Given the description of an element on the screen output the (x, y) to click on. 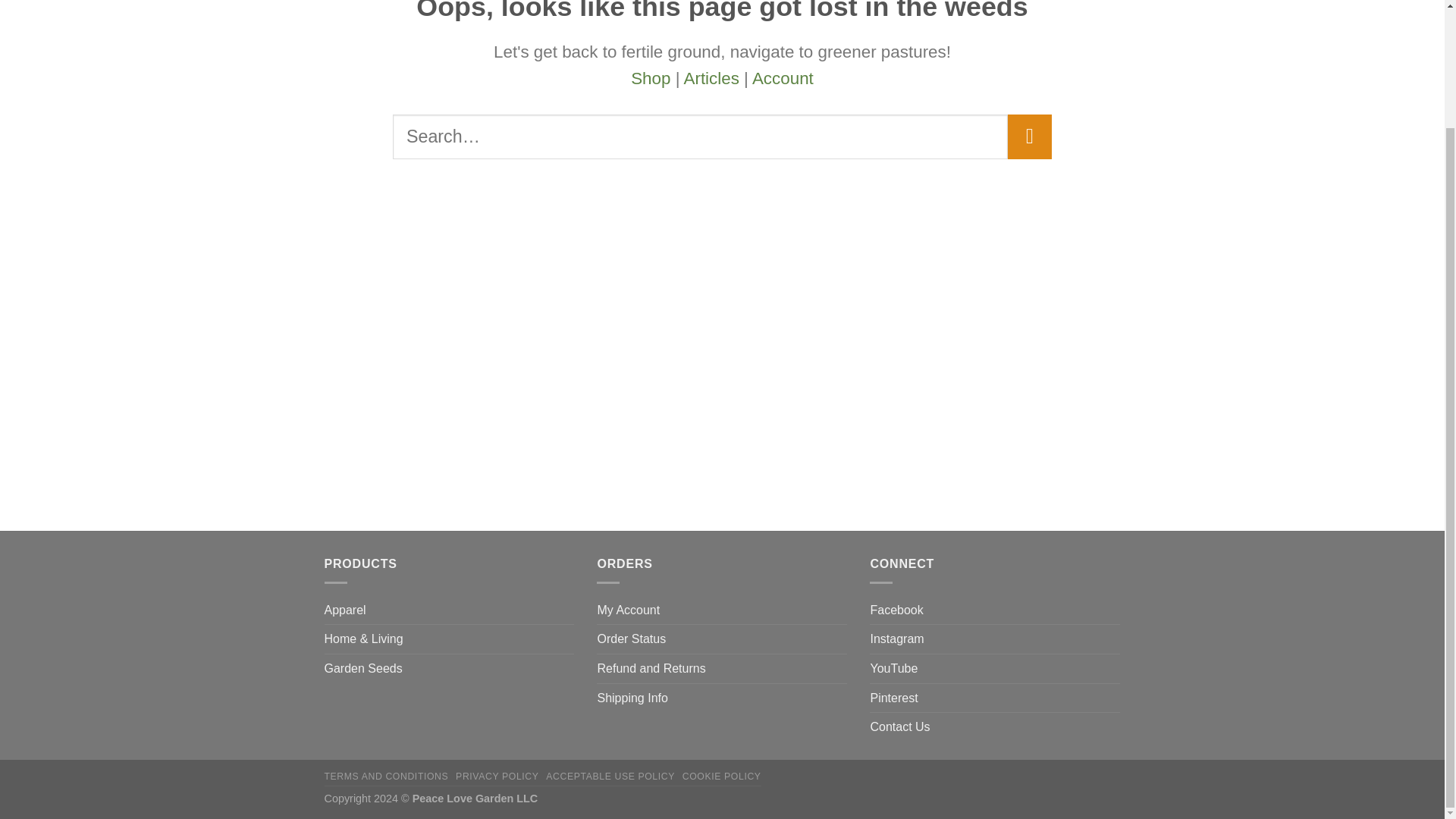
Account (782, 77)
Articles (710, 77)
Shop (649, 77)
